Given the description of an element on the screen output the (x, y) to click on. 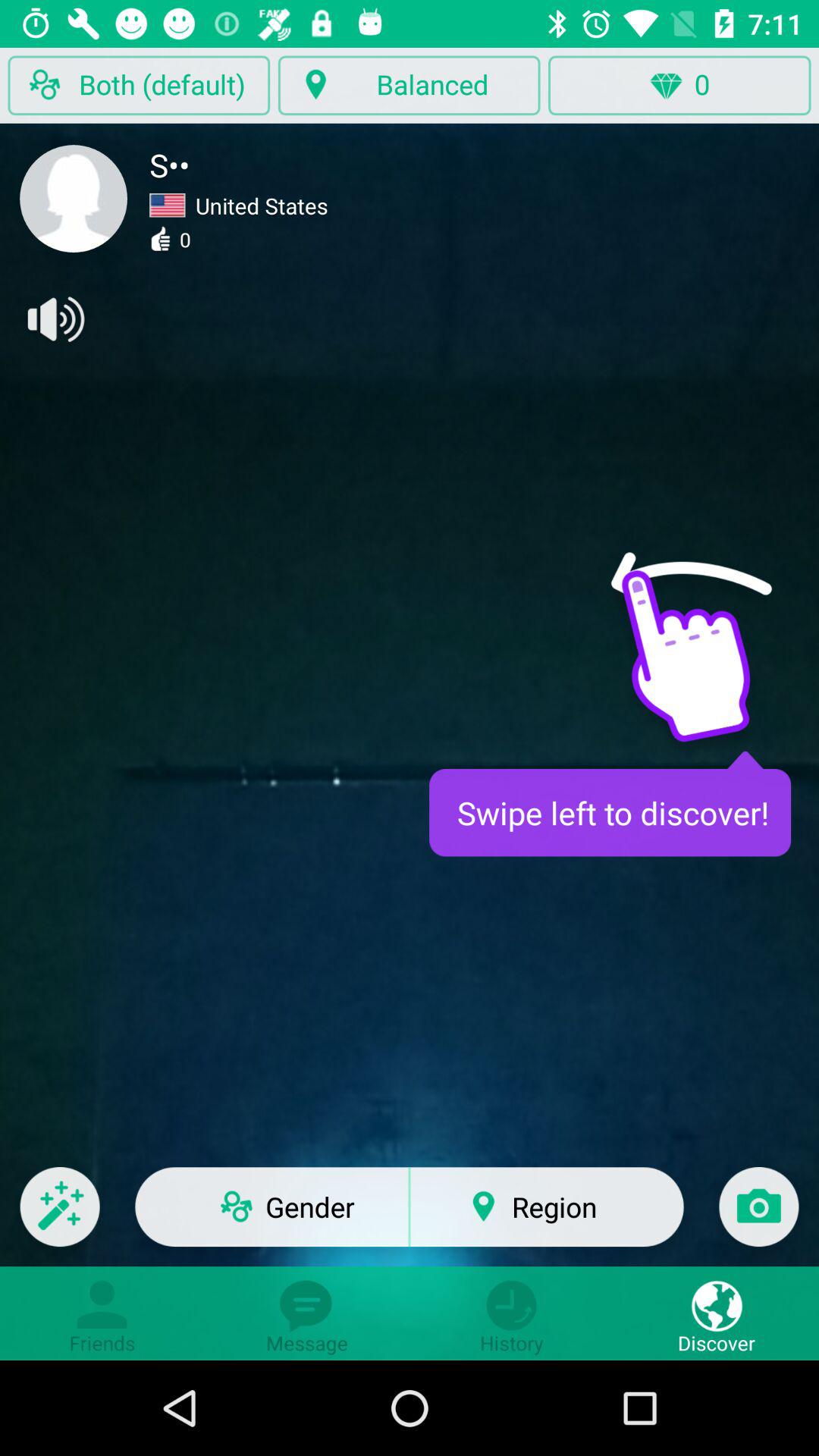
launch the item to the right of region (758, 1216)
